Given the description of an element on the screen output the (x, y) to click on. 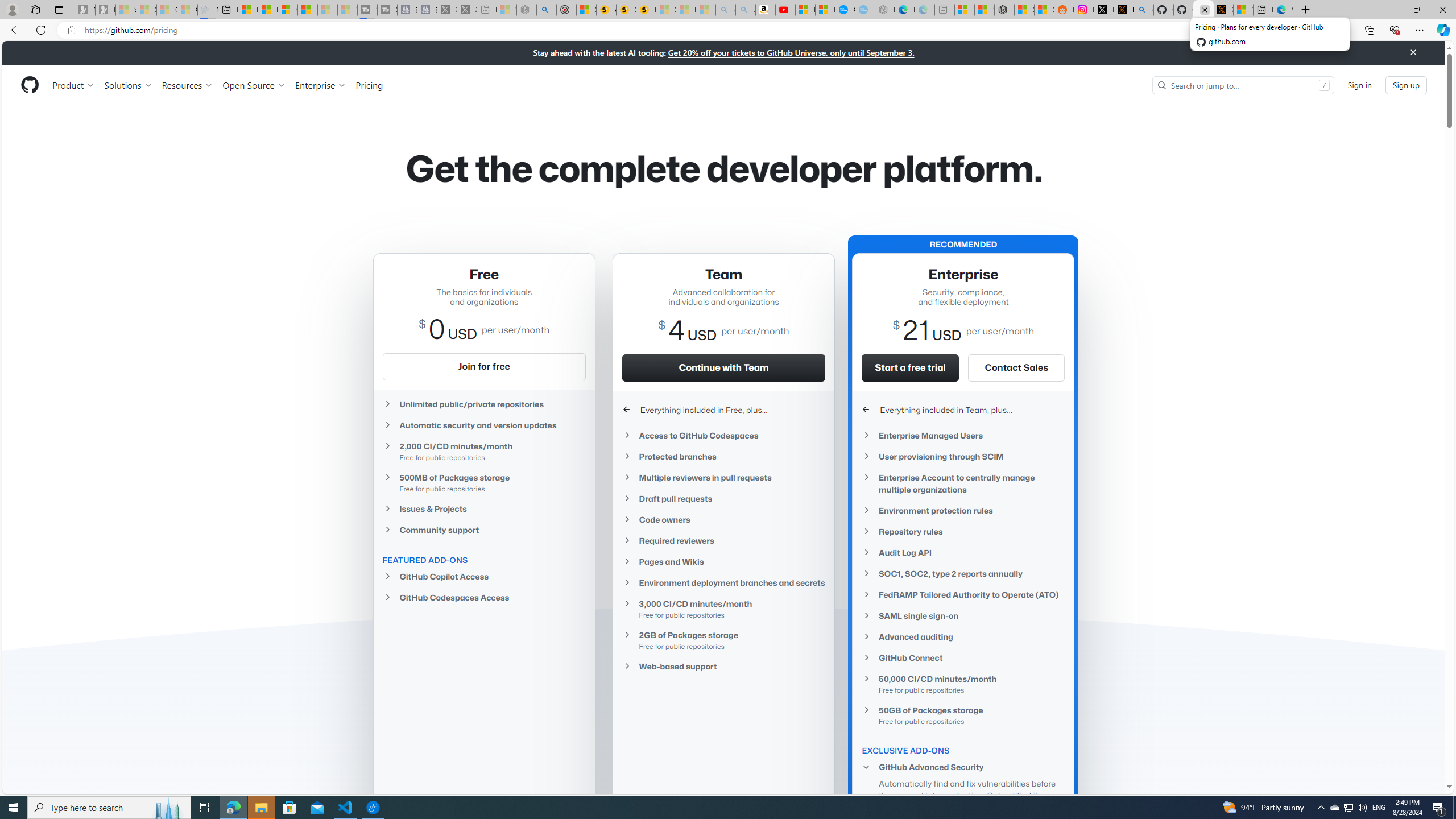
Nordace - Nordace has arrived Hong Kong - Sleeping (884, 9)
Required reviewers (723, 540)
Pricing (368, 84)
Michelle Starr, Senior Journalist at ScienceAlert (646, 9)
Microsoft account | Microsoft Account Privacy Settings (964, 9)
GitHub Copilot Access (483, 576)
Web-based support (723, 666)
Required reviewers (723, 540)
3,000 CI/CD minutes/month Free for public repositories (723, 608)
